Given the description of an element on the screen output the (x, y) to click on. 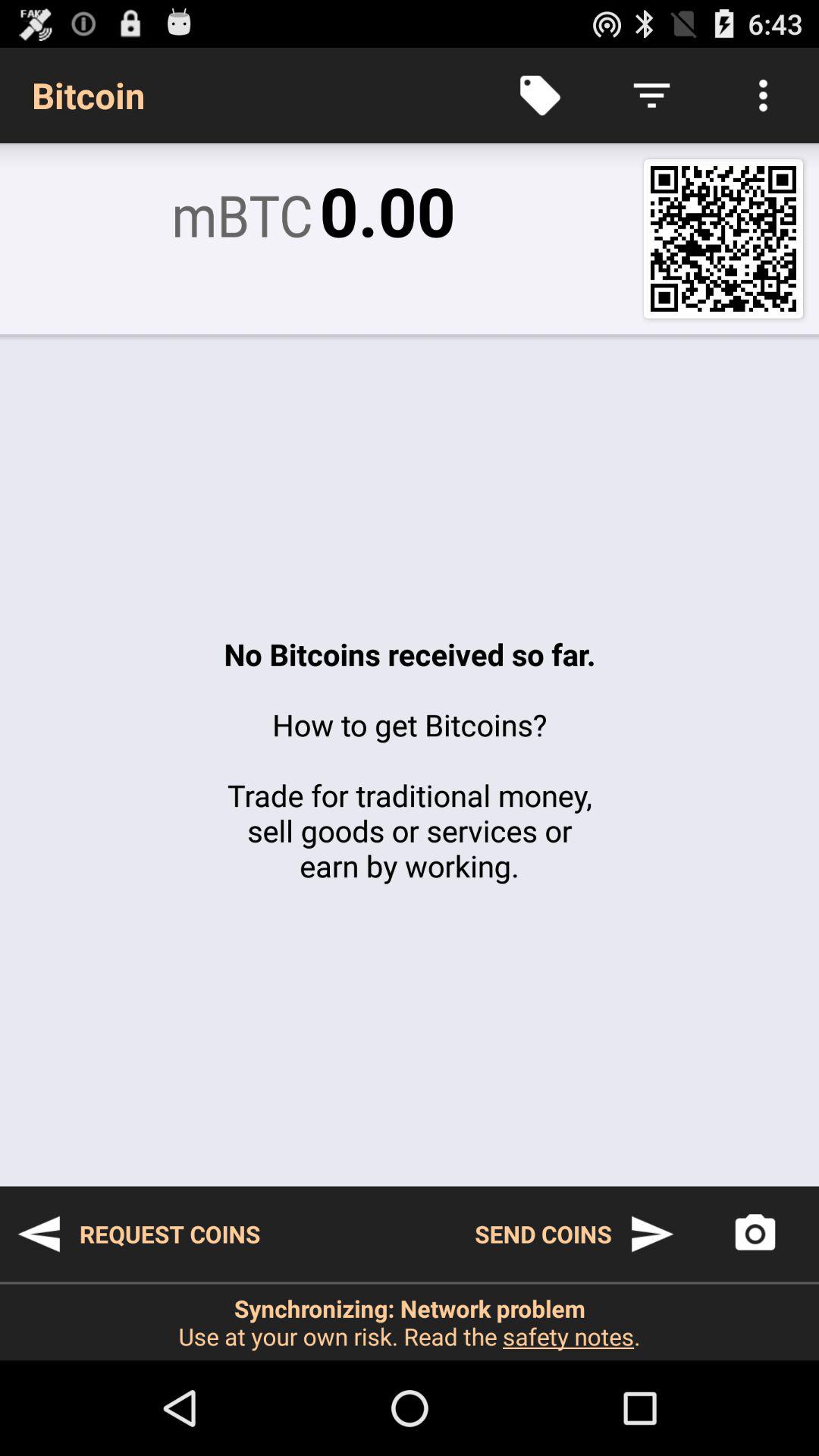
select icon below no bitcoins received item (138, 1233)
